Given the description of an element on the screen output the (x, y) to click on. 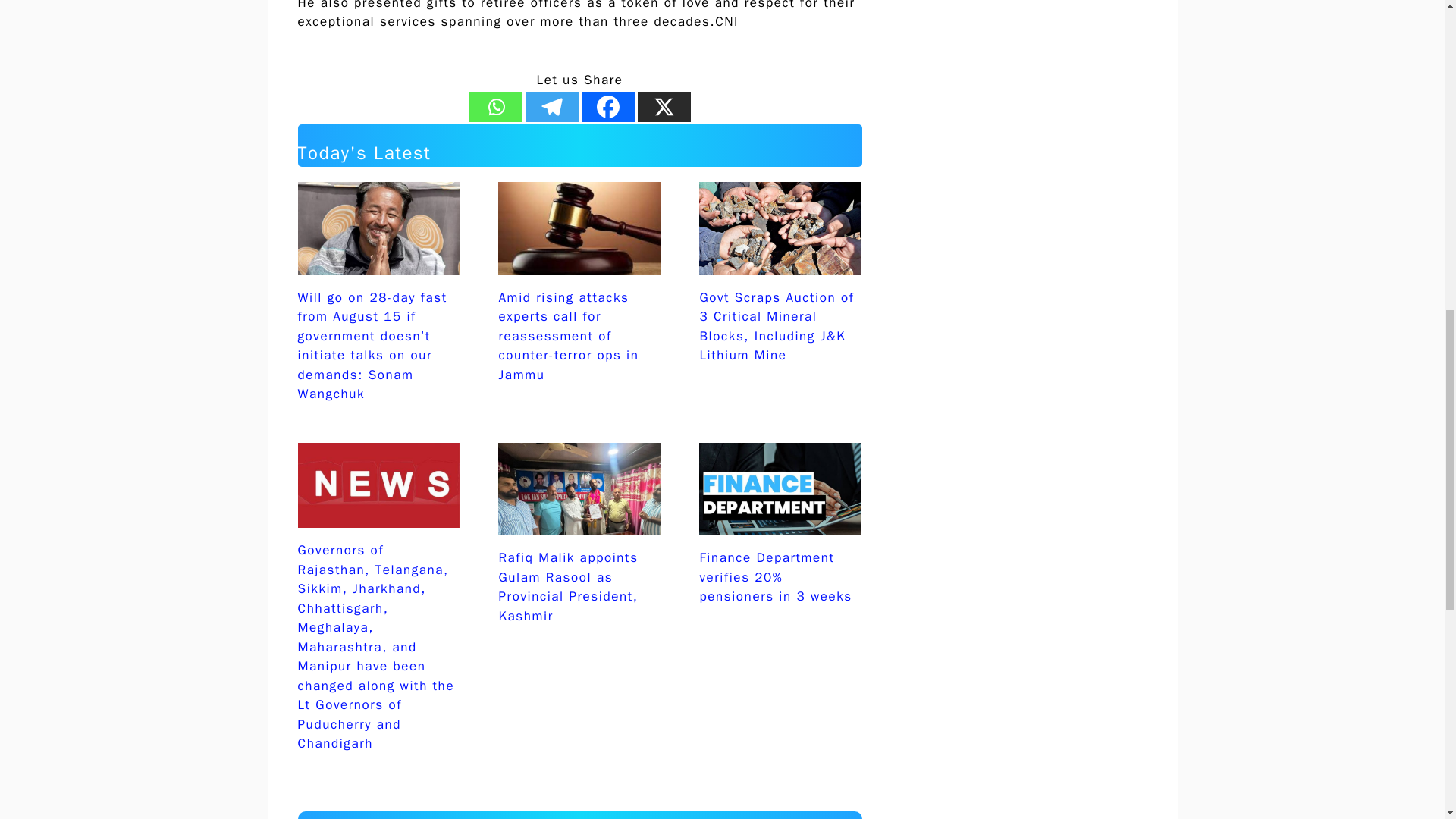
Telegram (551, 106)
Whatsapp (494, 106)
Facebook (606, 106)
X (663, 106)
